Given the description of an element on the screen output the (x, y) to click on. 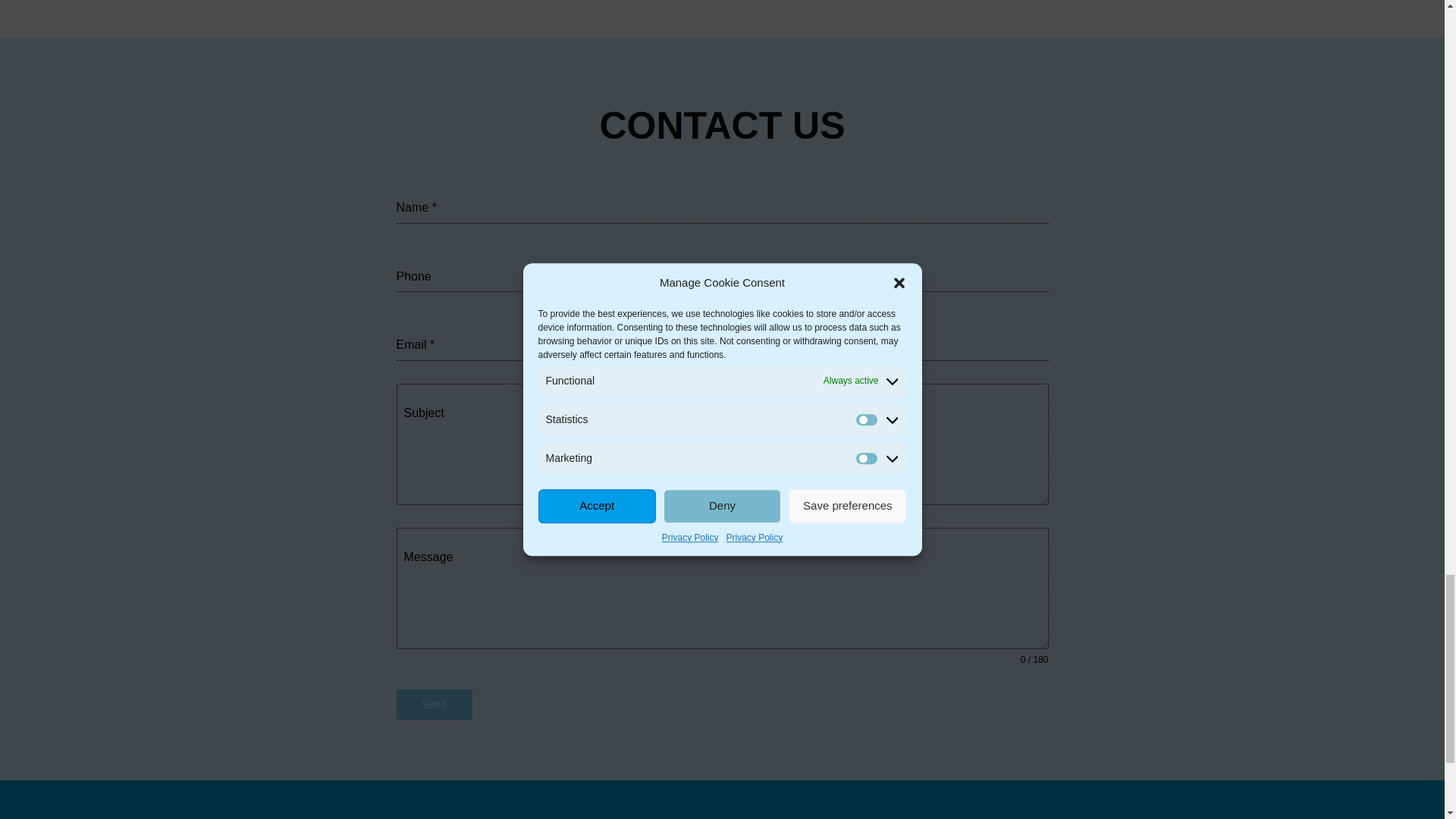
Send (433, 704)
